Given the description of an element on the screen output the (x, y) to click on. 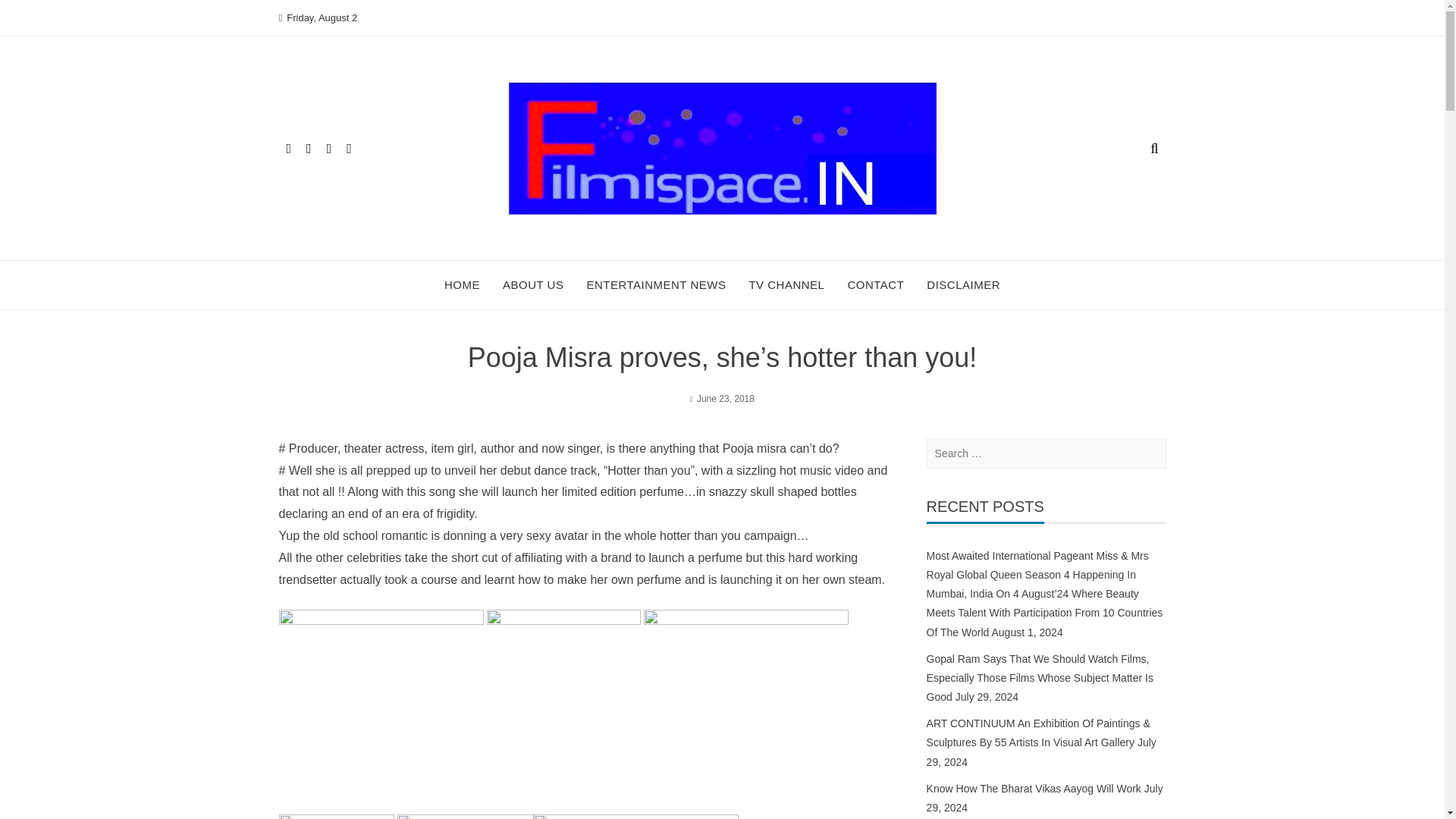
ABOUT US (532, 284)
TV CHANNEL (786, 284)
DISCLAIMER (963, 284)
Search (32, 15)
CONTACT (875, 284)
ENTERTAINMENT NEWS (655, 284)
HOME (462, 284)
